Given the description of an element on the screen output the (x, y) to click on. 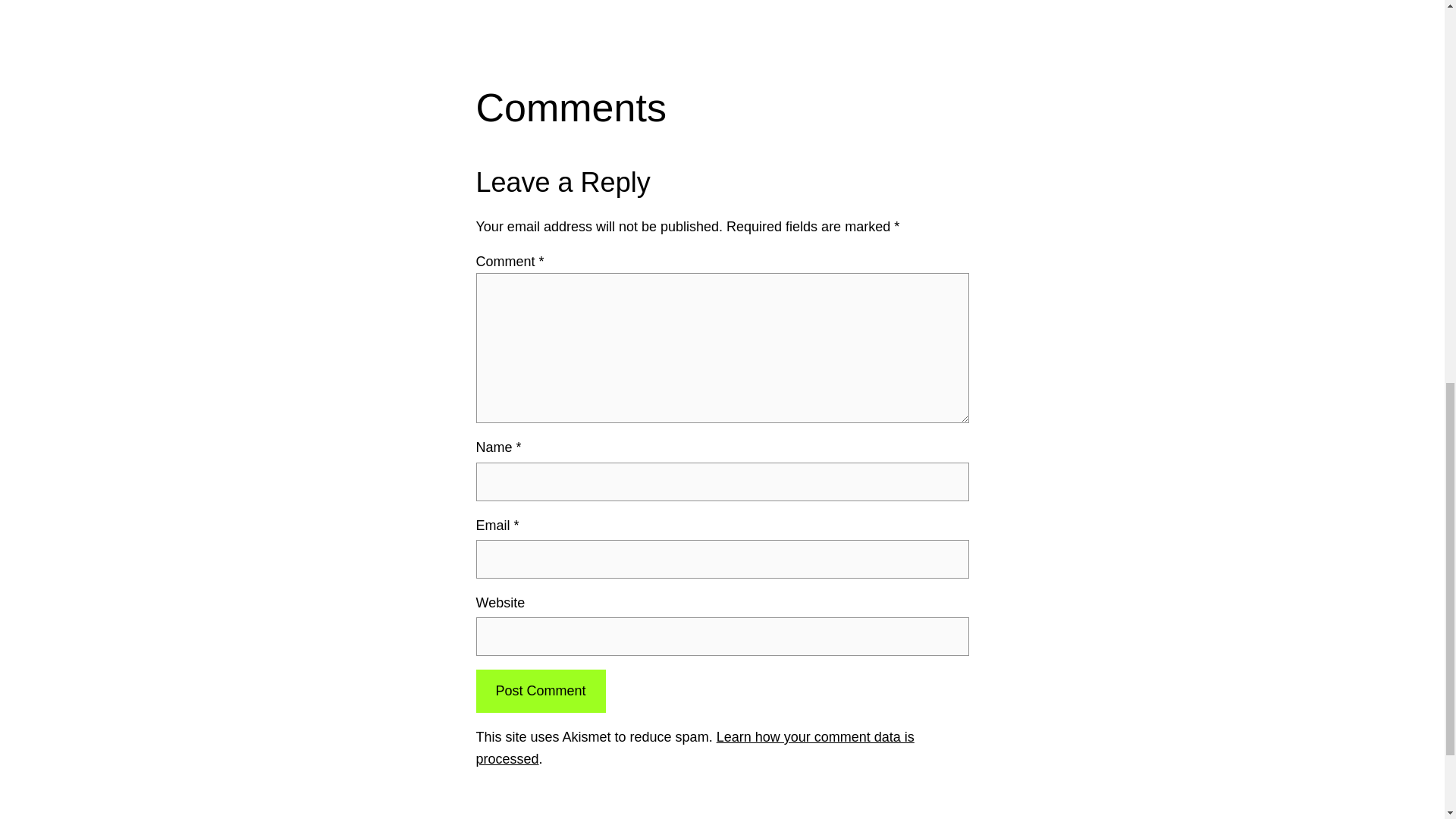
Post Comment (540, 690)
Post Comment (540, 690)
Learn how your comment data is processed (695, 747)
